Given the description of an element on the screen output the (x, y) to click on. 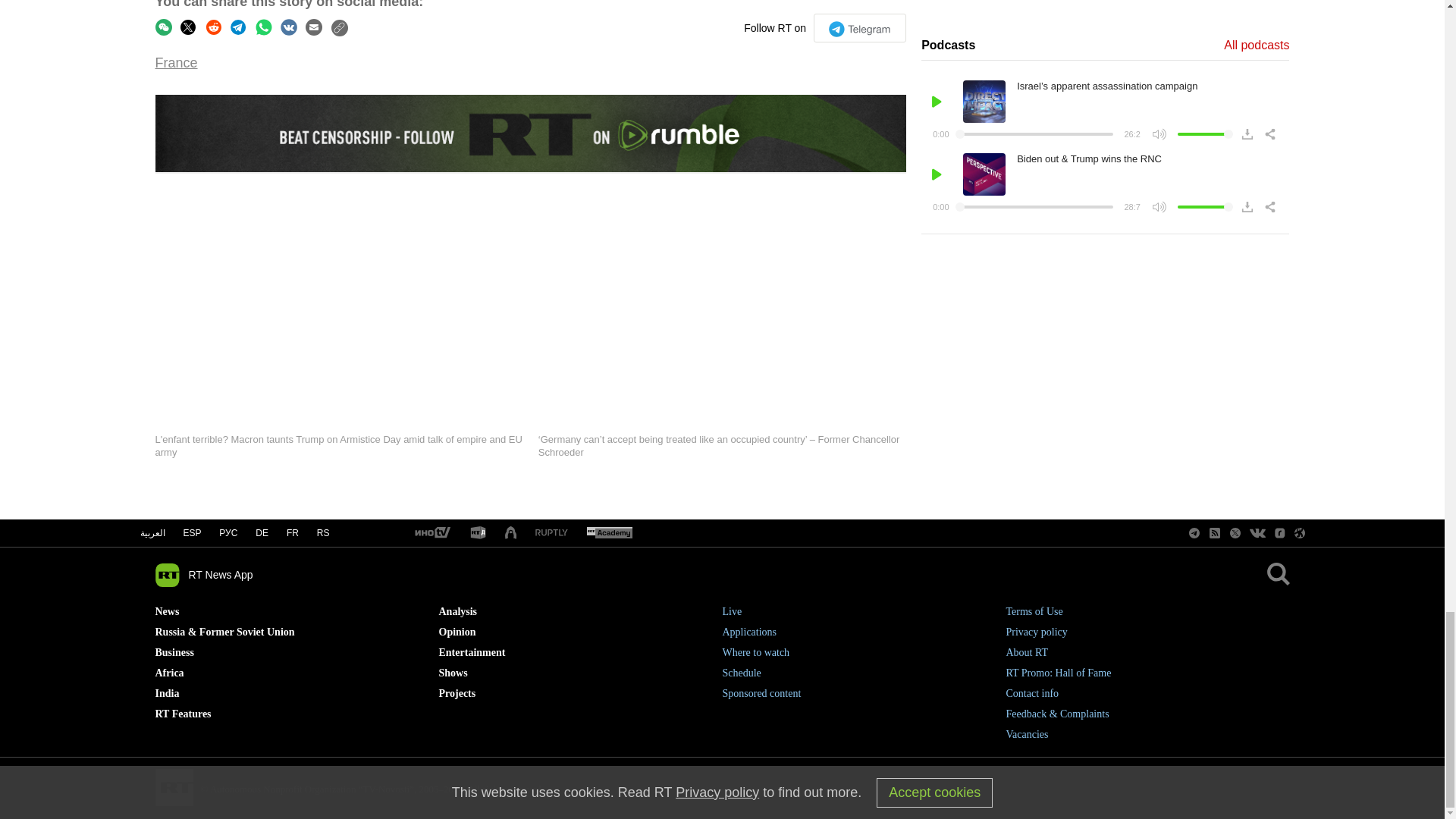
RT  (551, 533)
RT  (478, 533)
RT  (431, 533)
RT  (608, 533)
